Given the description of an element on the screen output the (x, y) to click on. 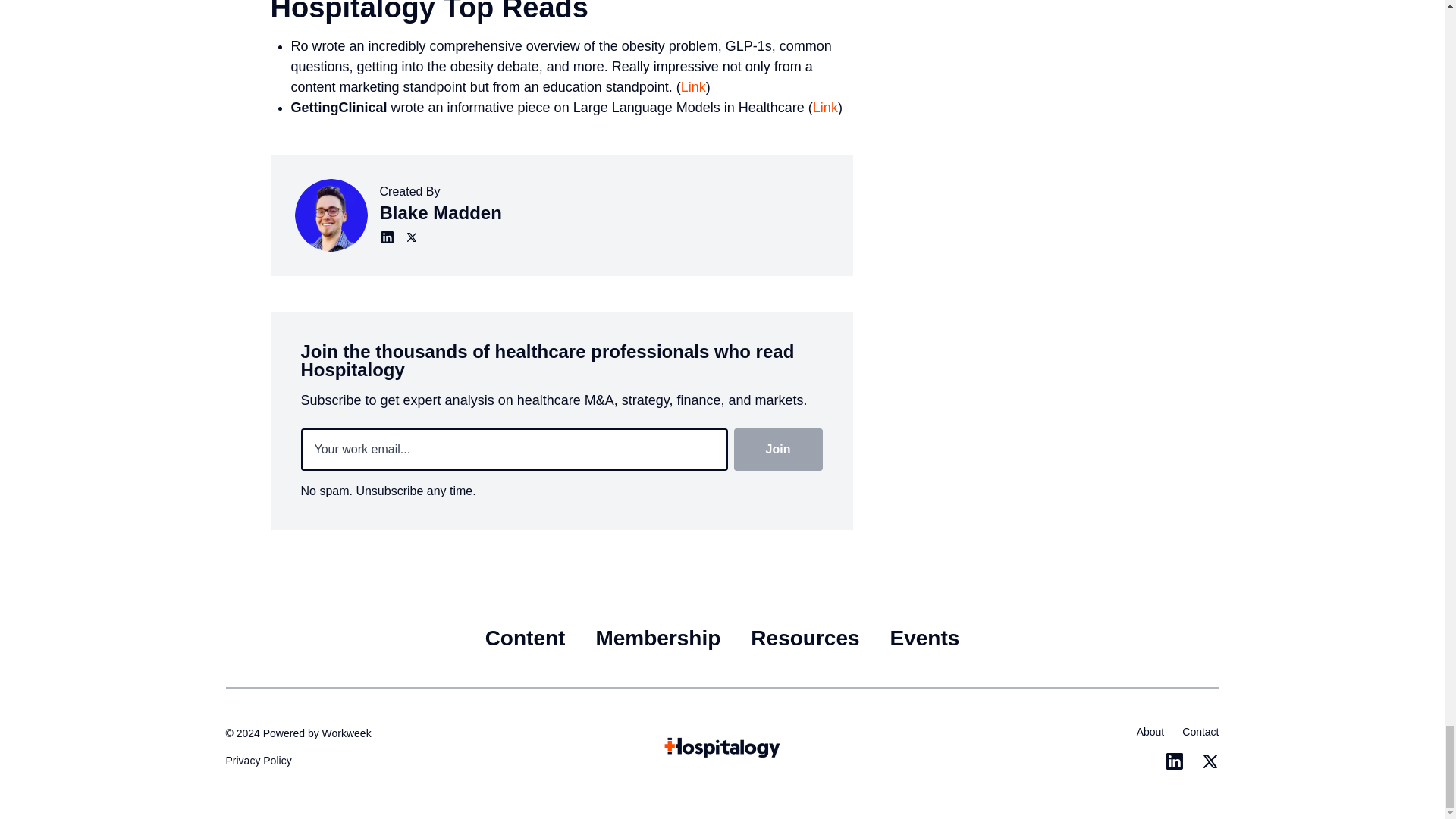
Join (777, 449)
